Given the description of an element on the screen output the (x, y) to click on. 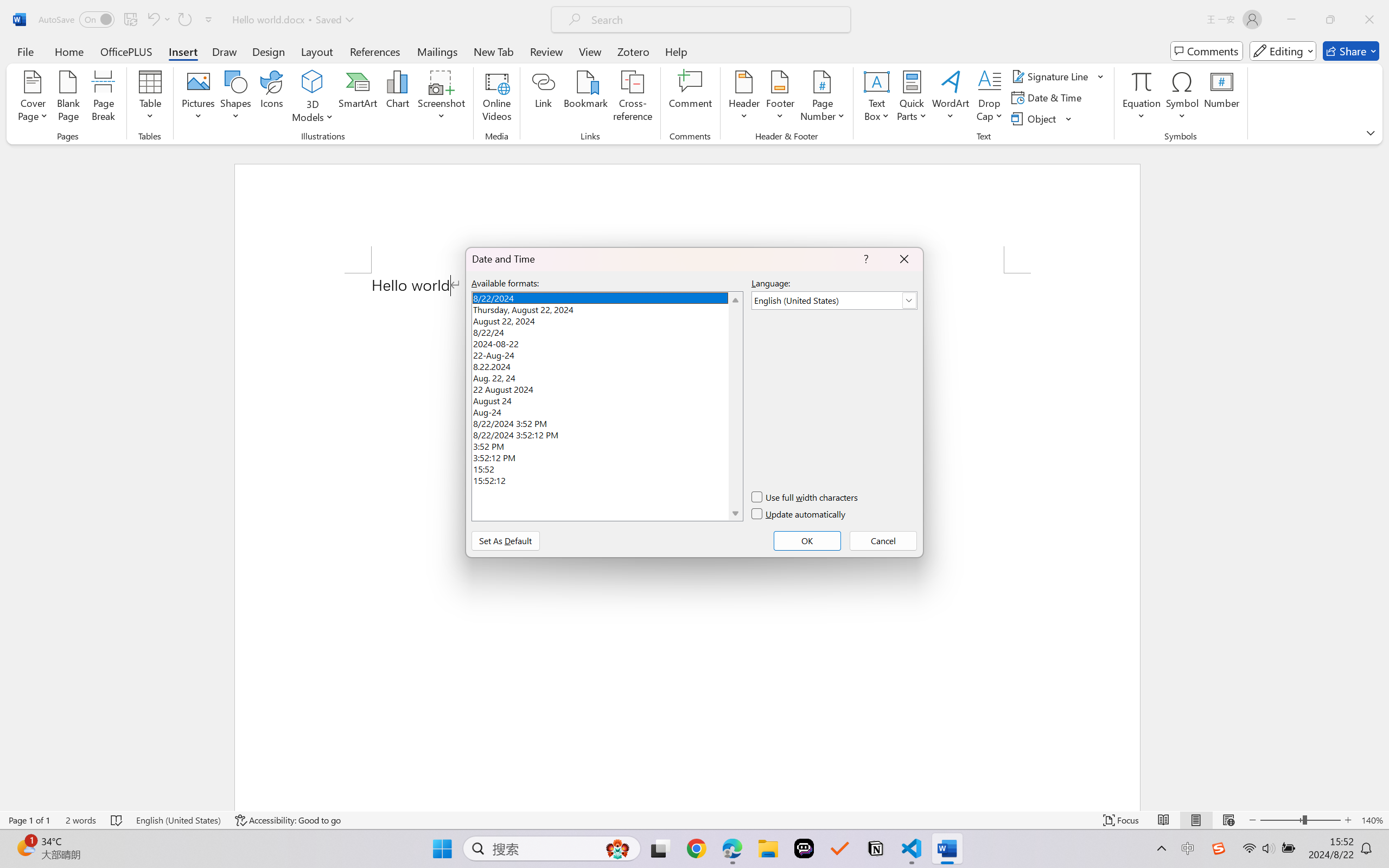
Spelling and Grammar Check No Errors (117, 819)
New Tab (493, 51)
Notion (875, 848)
Signature Line (1058, 75)
Page Number (822, 97)
Drop Cap (989, 97)
WordArt (950, 97)
Comments (1206, 50)
Web Layout (1228, 819)
22 August 2024 (606, 388)
Symbol (1181, 97)
Accessibility Checker Accessibility: Good to go (288, 819)
AutomationID: DynamicSearchBoxGleamImage (617, 848)
